Given the description of an element on the screen output the (x, y) to click on. 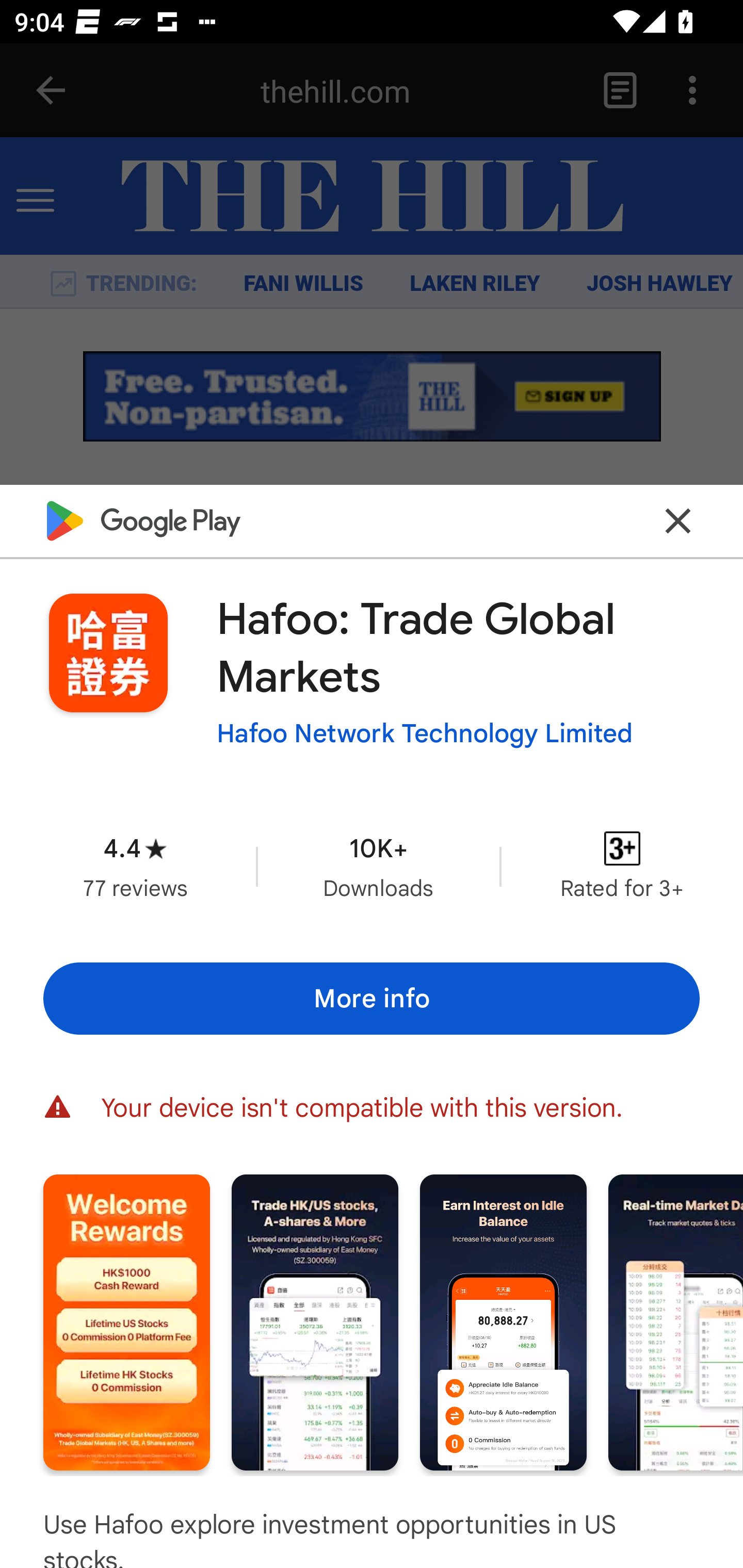
Close (677, 520)
Hafoo Network Technology Limited (424, 732)
More info (371, 998)
Screenshot "1" of "8" (126, 1322)
Screenshot "2" of "8" (314, 1322)
Screenshot "3" of "8" (502, 1322)
Screenshot "4" of "8" (675, 1322)
